Given the description of an element on the screen output the (x, y) to click on. 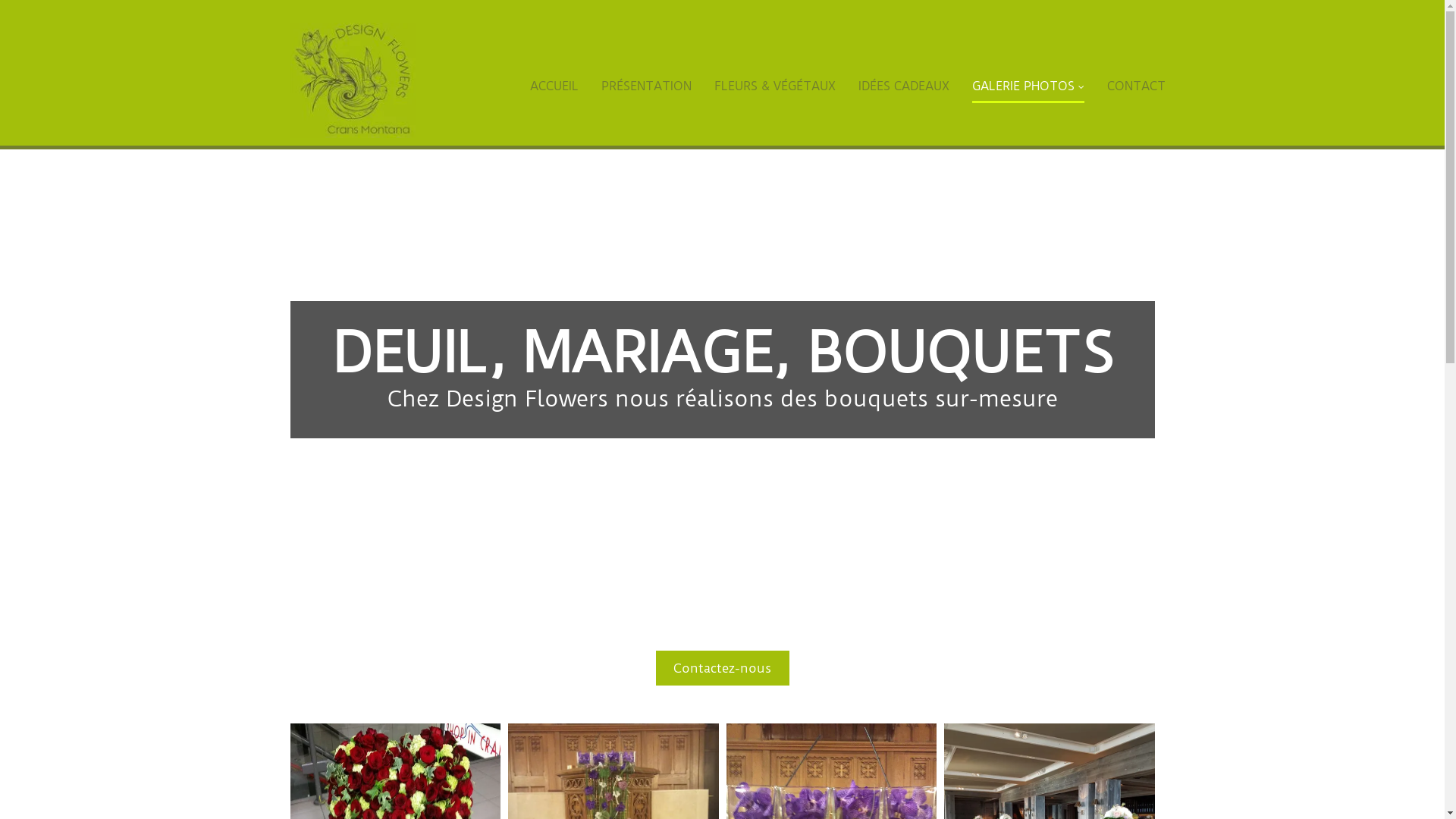
ACCUEIL Element type: text (554, 84)
GALERIE PHOTOS Element type: text (1028, 84)
CONTACT Element type: text (1136, 84)
Contactez-nous Element type: text (721, 667)
